Given the description of an element on the screen output the (x, y) to click on. 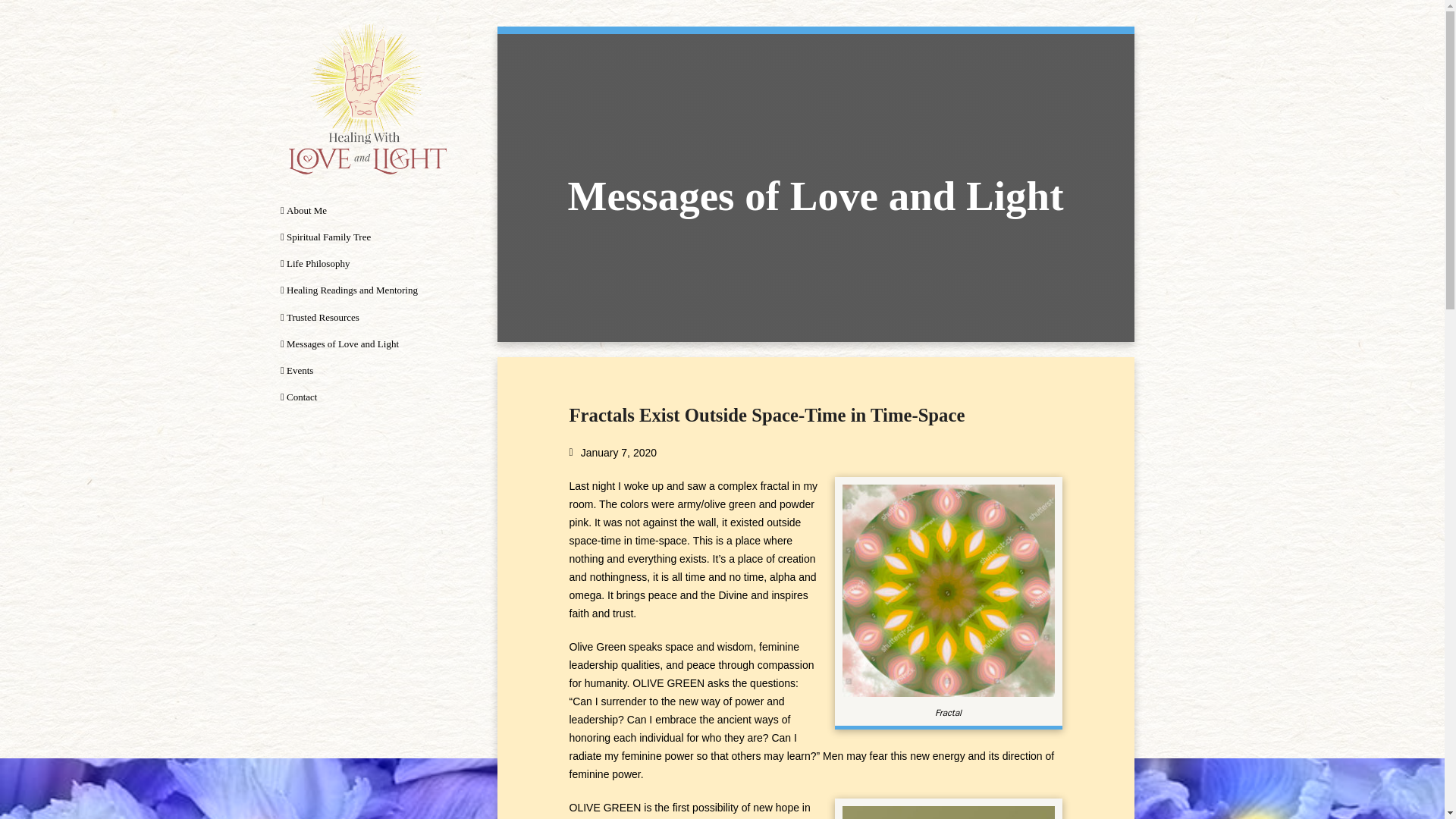
About Me (367, 210)
Healing Readings and Mentoring (367, 289)
Contact (367, 397)
Life Philosophy (367, 263)
Contact (367, 397)
Spiritual Family Tree (367, 236)
Events (367, 370)
Messages of Love and Light (367, 343)
Trusted Resources (367, 316)
